Given the description of an element on the screen output the (x, y) to click on. 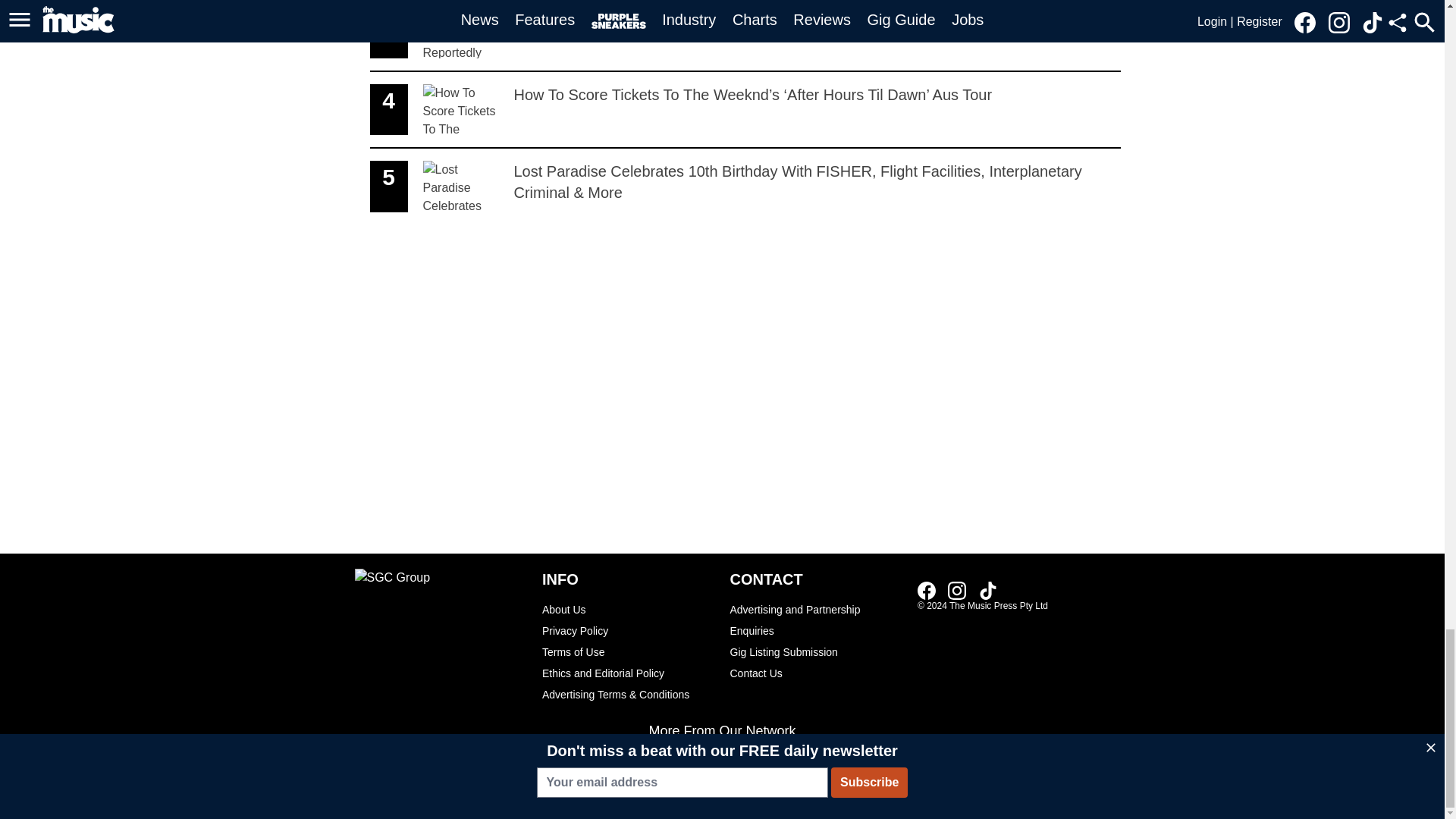
Link to our Facebook (745, 36)
High-Rise Plans Reportedly Approved For FISHER (926, 590)
About Us (1248, 14)
Link to our TikTok (627, 608)
Link to our Instagram (987, 590)
Privacy Policy (956, 590)
